Given the description of an element on the screen output the (x, y) to click on. 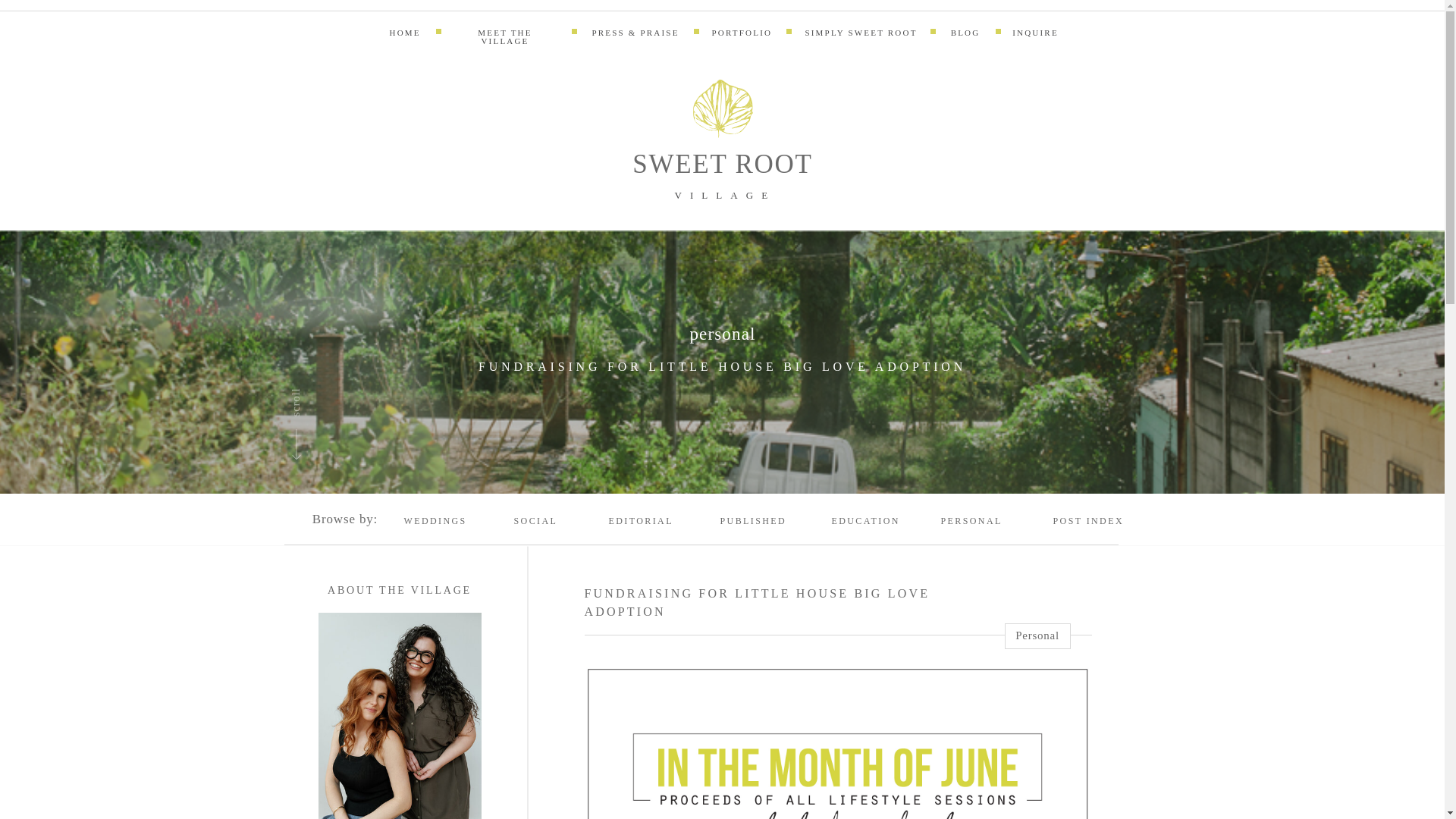
EDITORIAL (644, 523)
VILLAGE (723, 198)
PERSONAL (975, 523)
personal (721, 333)
INQUIRE (1034, 35)
WEDDINGS (439, 523)
HOME (404, 36)
scroll (313, 384)
ABOUT THE VILLAGE (399, 595)
SIMPLY SWEET ROOT (861, 36)
BLOG (964, 36)
MEET THE VILLAGE (504, 36)
POST INDEX (1096, 523)
EDUCATION (872, 523)
PORTFOLIO (741, 36)
